Given the description of an element on the screen output the (x, y) to click on. 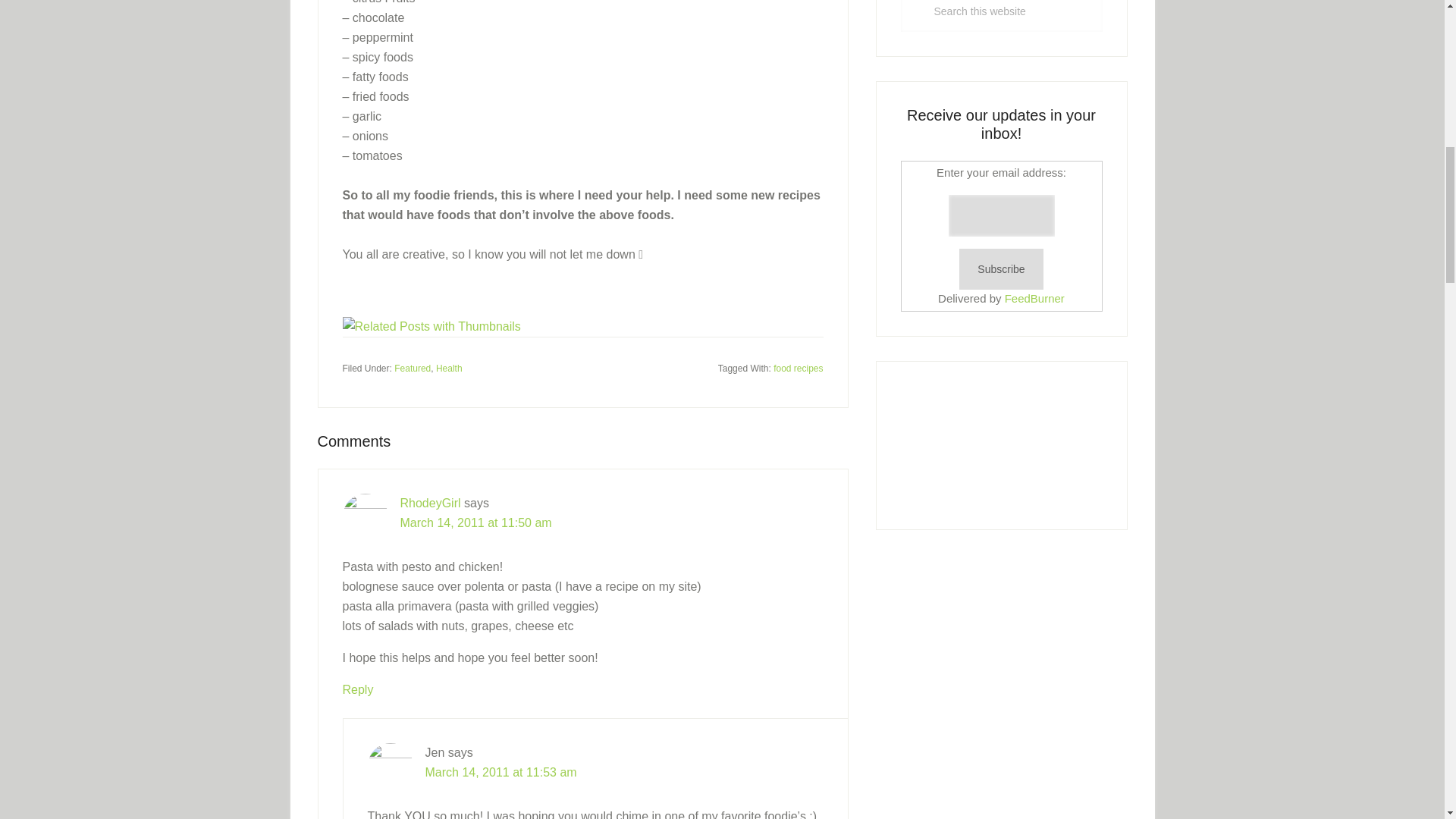
Health (449, 368)
RhodeyGirl (430, 502)
March 14, 2011 at 11:50 am (475, 521)
food recipes (797, 368)
March 14, 2011 at 11:53 am (500, 771)
Featured (412, 368)
Reply (358, 688)
Subscribe (1000, 269)
